Given the description of an element on the screen output the (x, y) to click on. 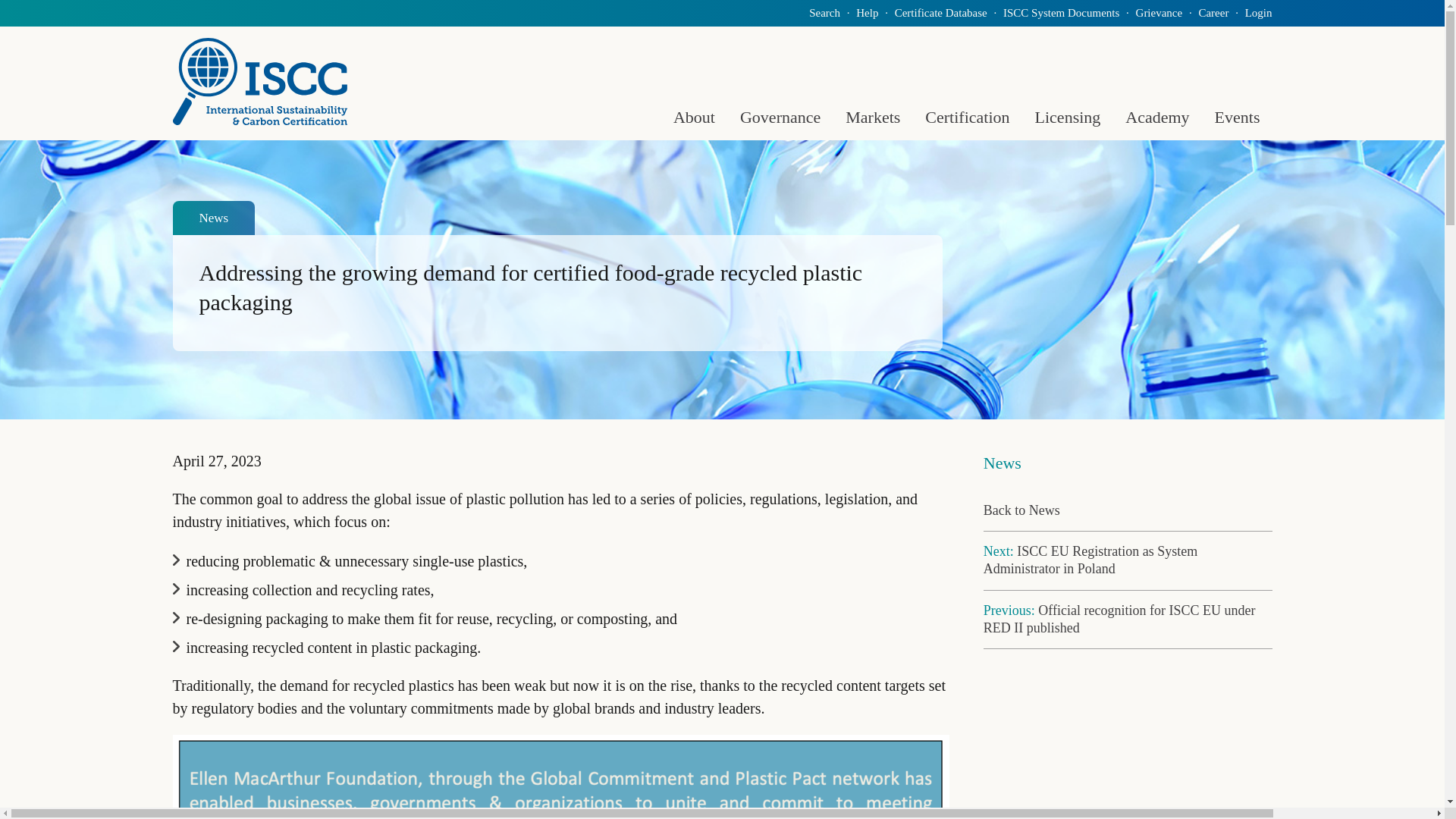
Career (1213, 12)
ISCC System Documents (1061, 12)
ISCC System (260, 81)
Search (824, 12)
About (693, 117)
Grievance (1158, 12)
Login (1258, 12)
ISCC System (260, 81)
Help (866, 12)
Certificate Database (941, 12)
